Given the description of an element on the screen output the (x, y) to click on. 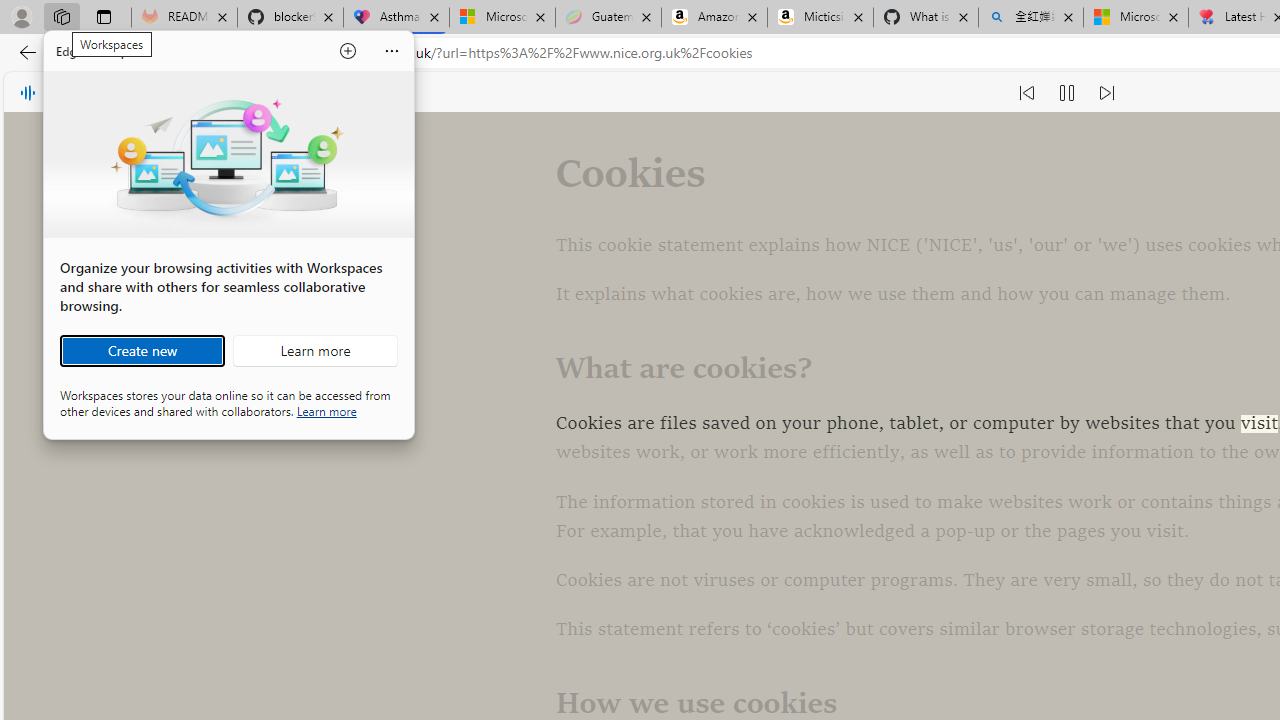
Read previous paragraph (1026, 92)
Learn more about Workspaces privacy (326, 410)
Learn more about Workspaces (315, 350)
Read next paragraph (1105, 92)
Pause read aloud (Ctrl+Shift+U) (1065, 92)
Create new workspace (142, 350)
